Given the description of an element on the screen output the (x, y) to click on. 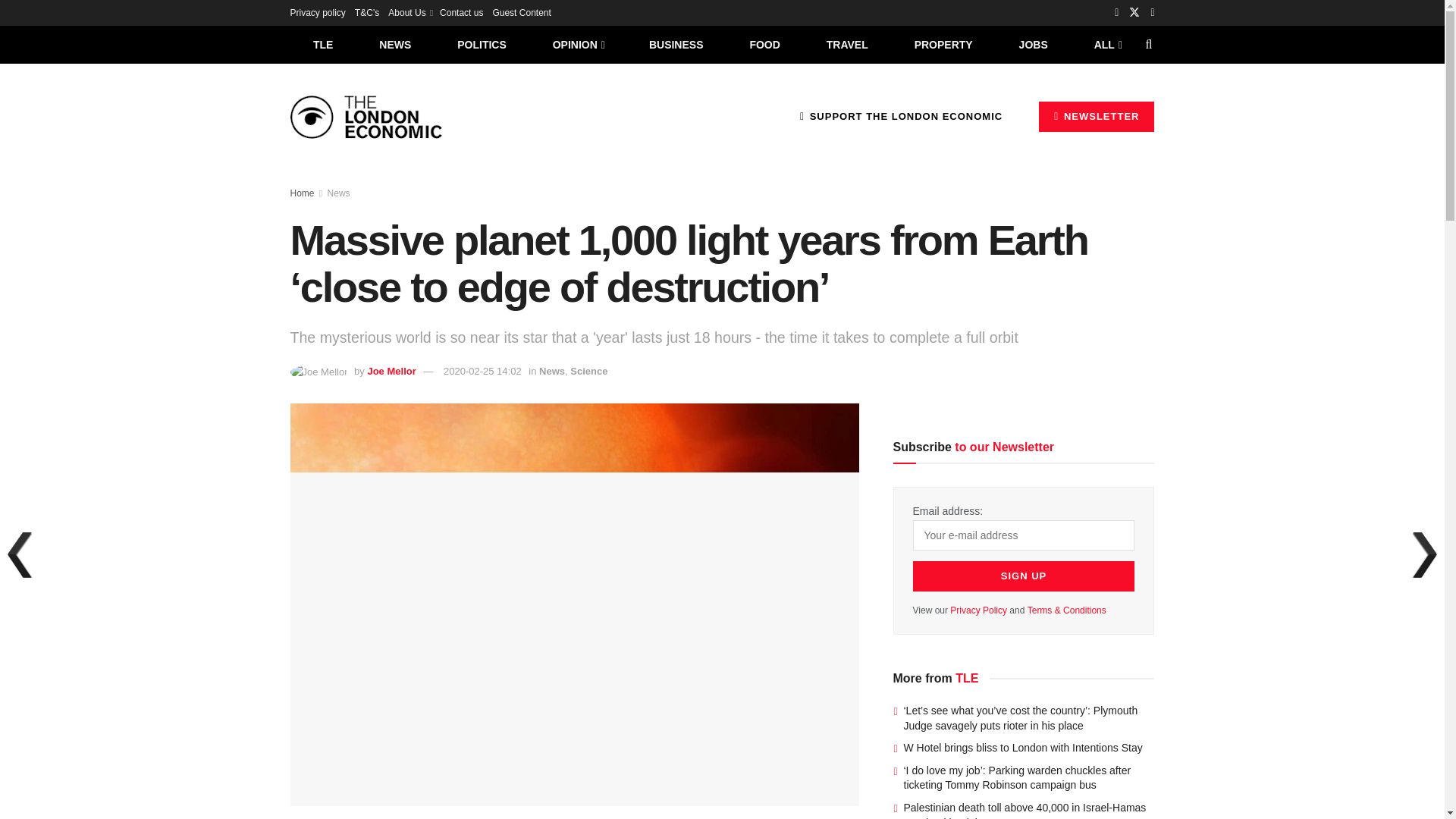
Privacy policy (317, 12)
FOOD (764, 44)
TRAVEL (847, 44)
About Us (409, 12)
POLITICS (481, 44)
Guest Content (521, 12)
Home (301, 193)
BUSINESS (676, 44)
Sign up (1023, 576)
JOBS (1032, 44)
